Given the description of an element on the screen output the (x, y) to click on. 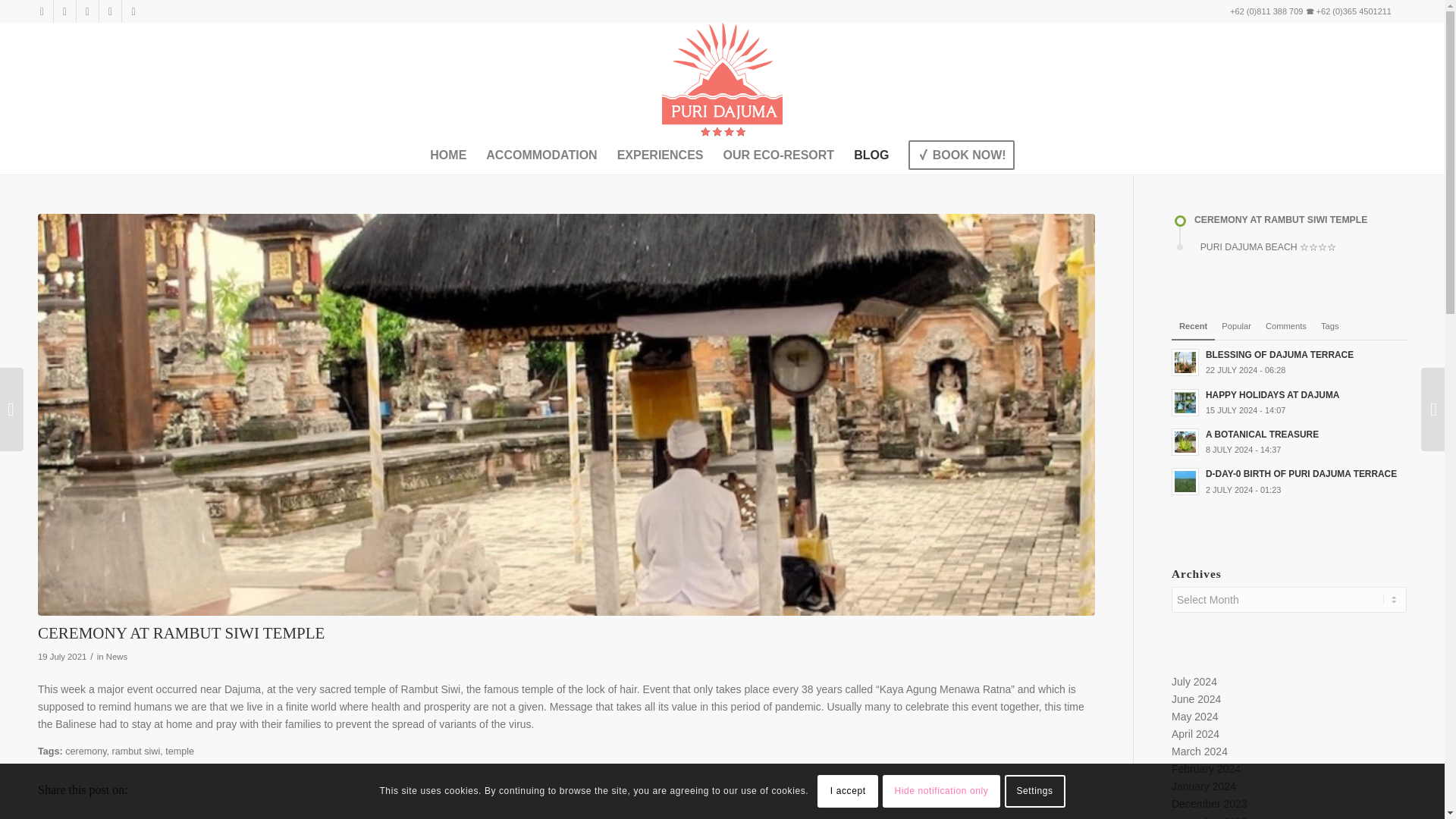
EXPERIENCES (660, 155)
Dajuma (242, 689)
BOOK NOW (960, 155)
Youtube (64, 11)
BLOG (871, 155)
WhatsApp (109, 11)
very sacred temple of Rambut Siwi (378, 689)
ACCOMMODATION (541, 155)
Rss (133, 11)
Facebook (41, 11)
HOME (448, 155)
Welcome to Dajuma Beach (722, 79)
Instagram (88, 11)
OUR ECO-RESORT (778, 155)
News (117, 655)
